Given the description of an element on the screen output the (x, y) to click on. 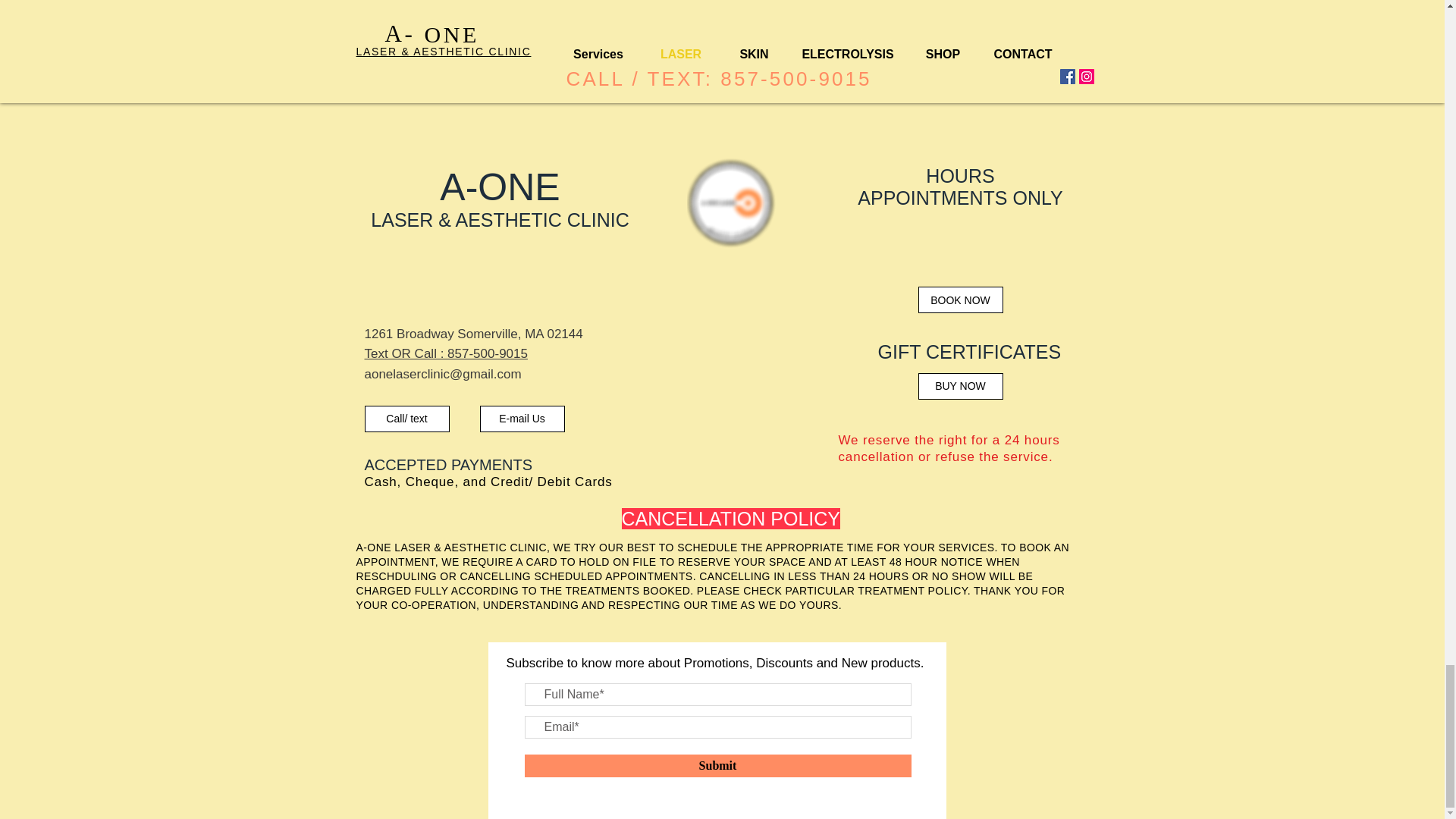
Text OR Call : 857-500-9015 (445, 353)
BOOK NOW (960, 299)
E-mail Us (521, 417)
1261 Broadway Somerville, MA (455, 333)
A-ONE (499, 187)
